Given the description of an element on the screen output the (x, y) to click on. 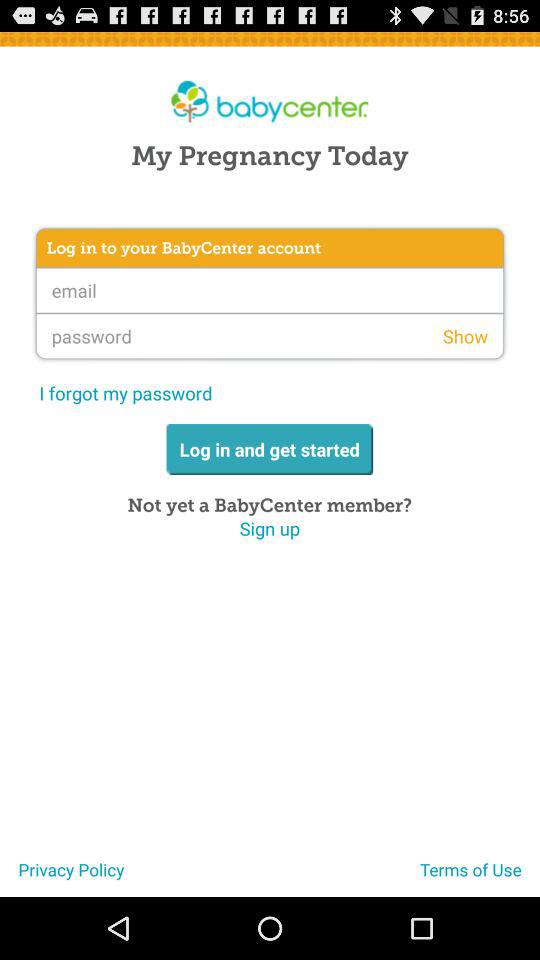
turn on the i forgot my icon (125, 392)
